Given the description of an element on the screen output the (x, y) to click on. 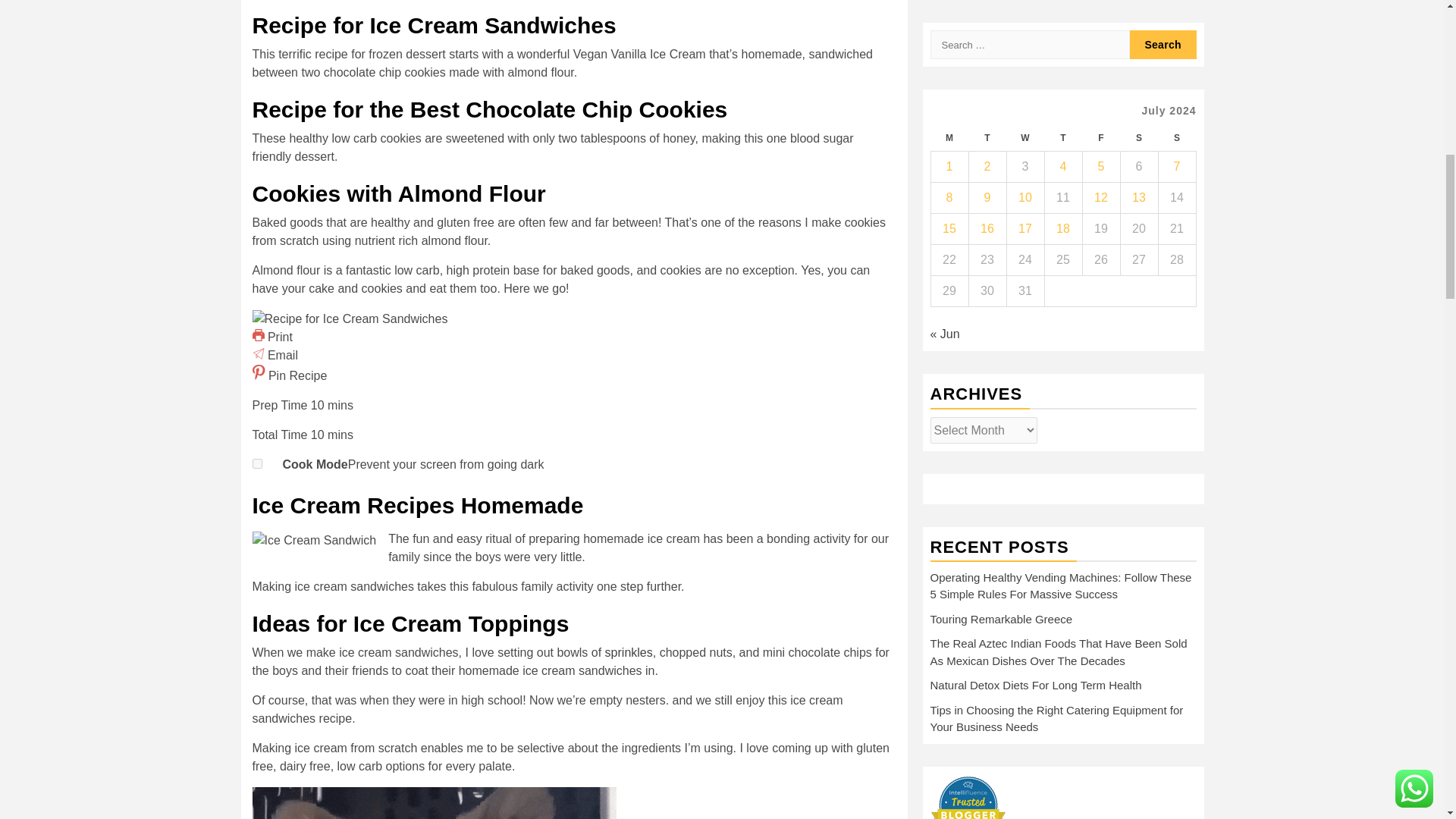
on (256, 463)
sprinkles (628, 652)
